Given the description of an element on the screen output the (x, y) to click on. 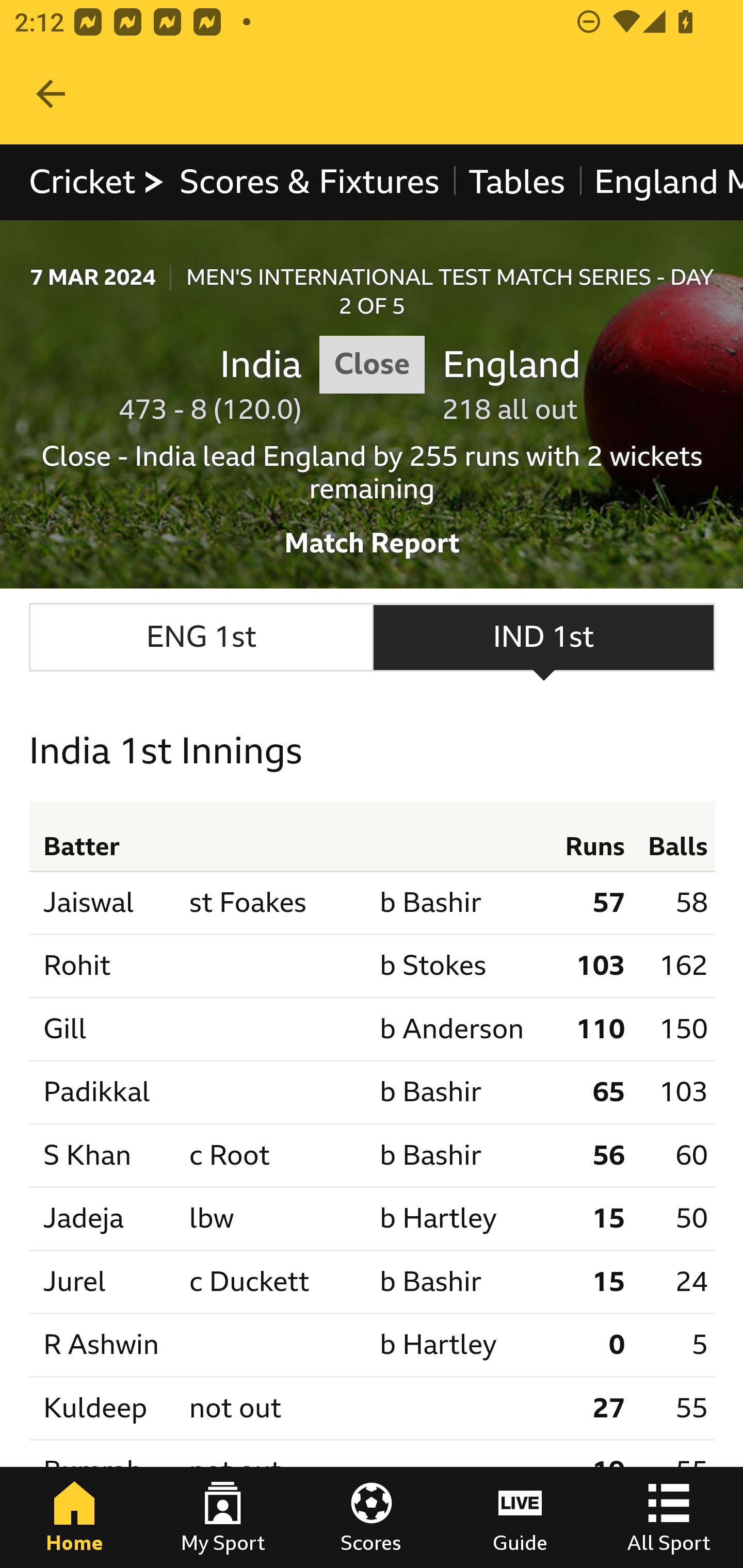
Navigate up (50, 93)
Cricket  (97, 181)
Scores & Fixtures (309, 181)
Tables (517, 181)
England Men (660, 181)
Match Report (372, 536)
ENG 1st (200, 637)
IND 1st (544, 637)
My Sport (222, 1517)
Scores (371, 1517)
Guide (519, 1517)
All Sport (668, 1517)
